Given the description of an element on the screen output the (x, y) to click on. 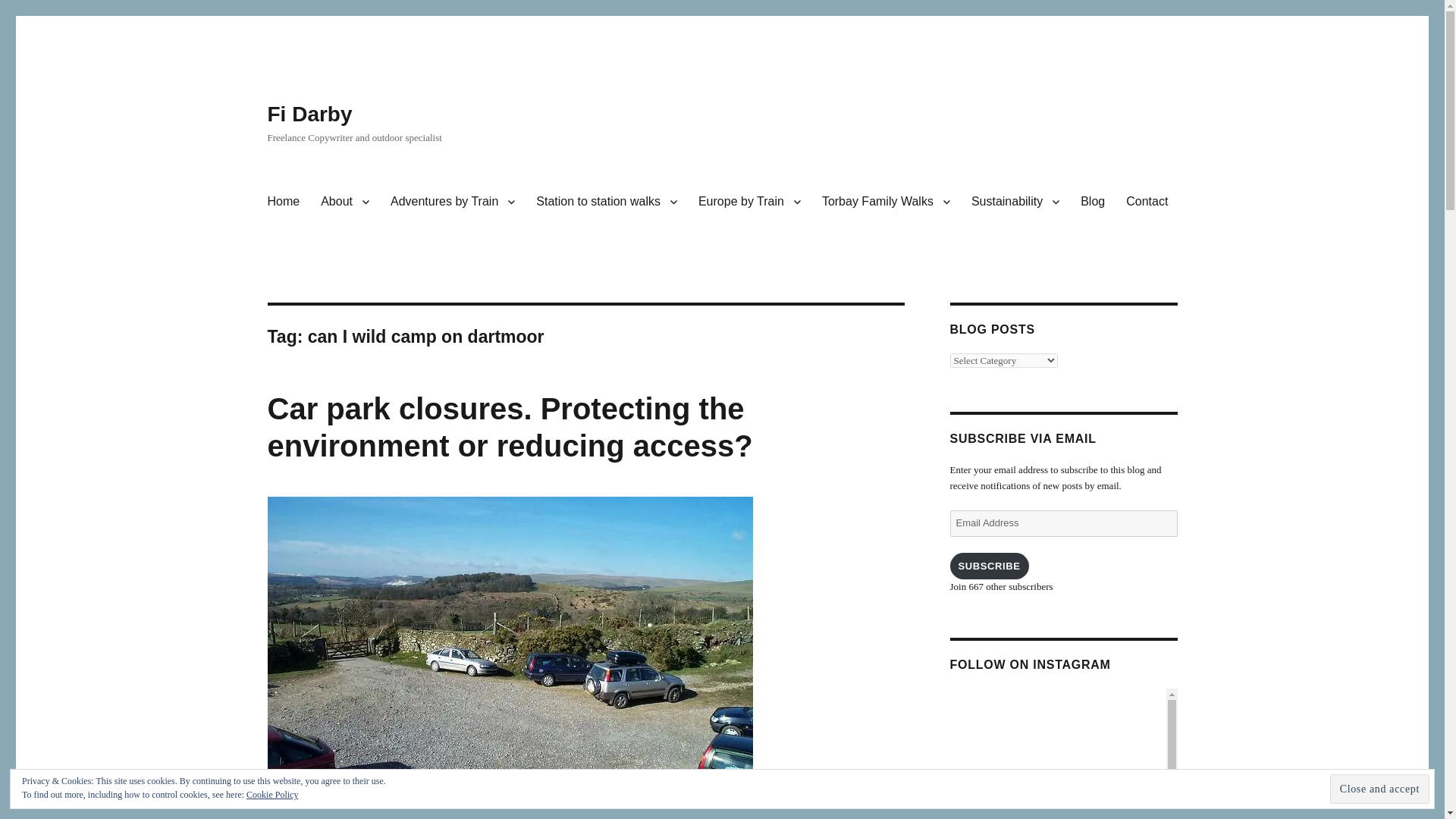
Fi Darby (309, 114)
Adventures by Train (452, 201)
About (345, 201)
Home (283, 201)
Close and accept (1379, 788)
